Given the description of an element on the screen output the (x, y) to click on. 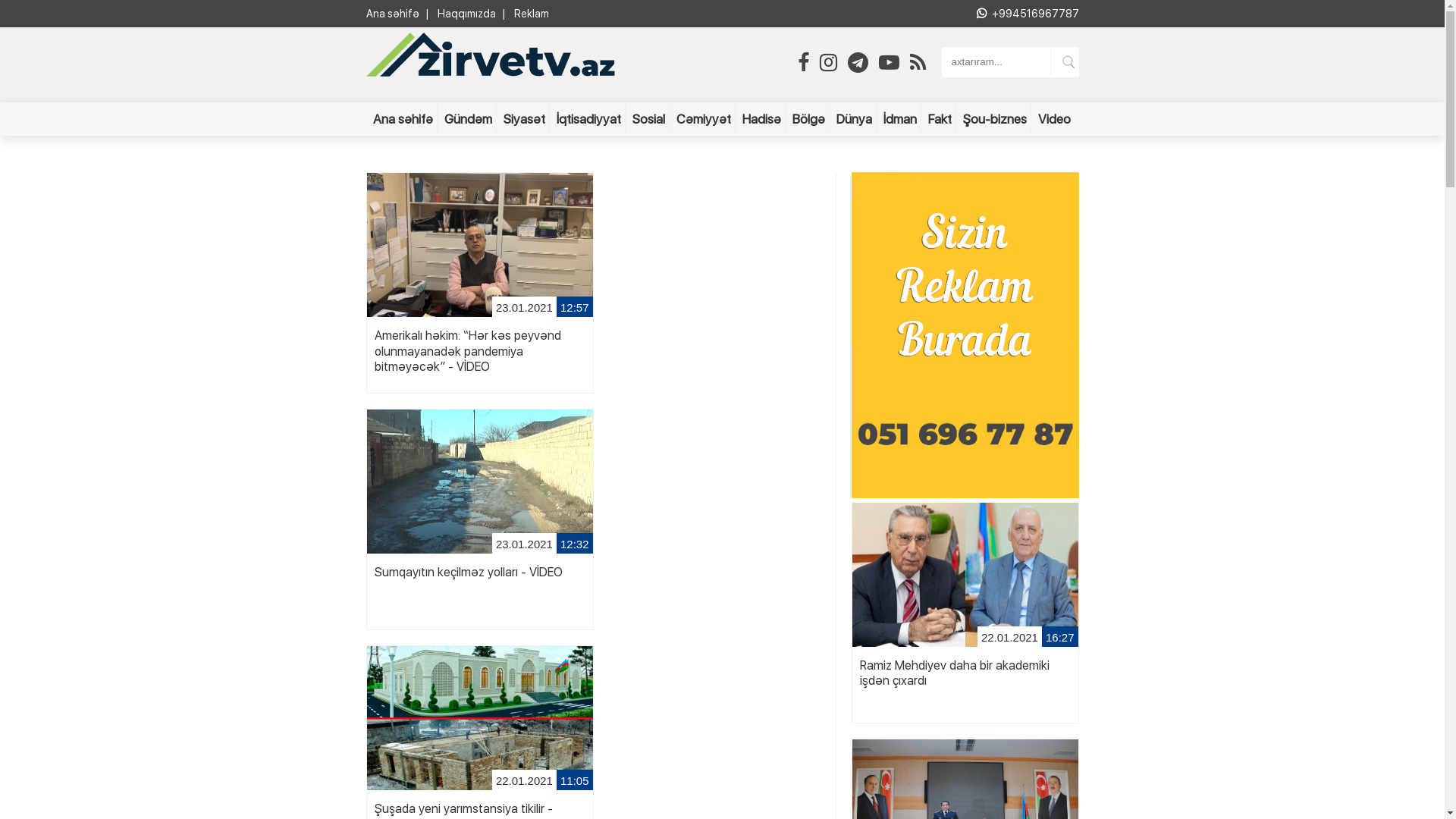
Fakt Element type: text (939, 118)
+994516967787 Element type: text (1035, 13)
Reklam Element type: text (531, 13)
Video Element type: text (1053, 118)
Sosial Element type: text (648, 118)
